Given the description of an element on the screen output the (x, y) to click on. 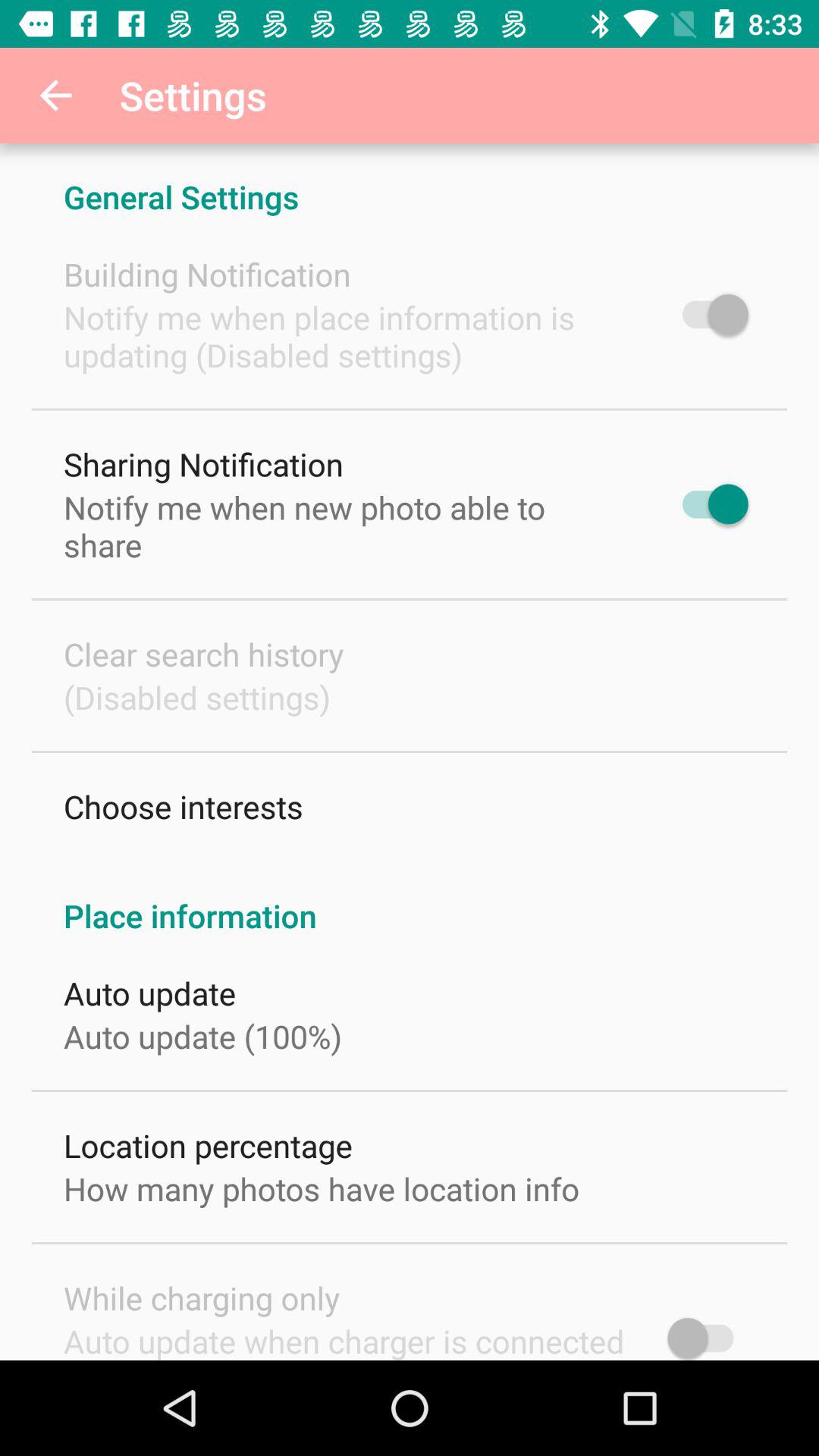
click icon above the building notification icon (409, 180)
